Given the description of an element on the screen output the (x, y) to click on. 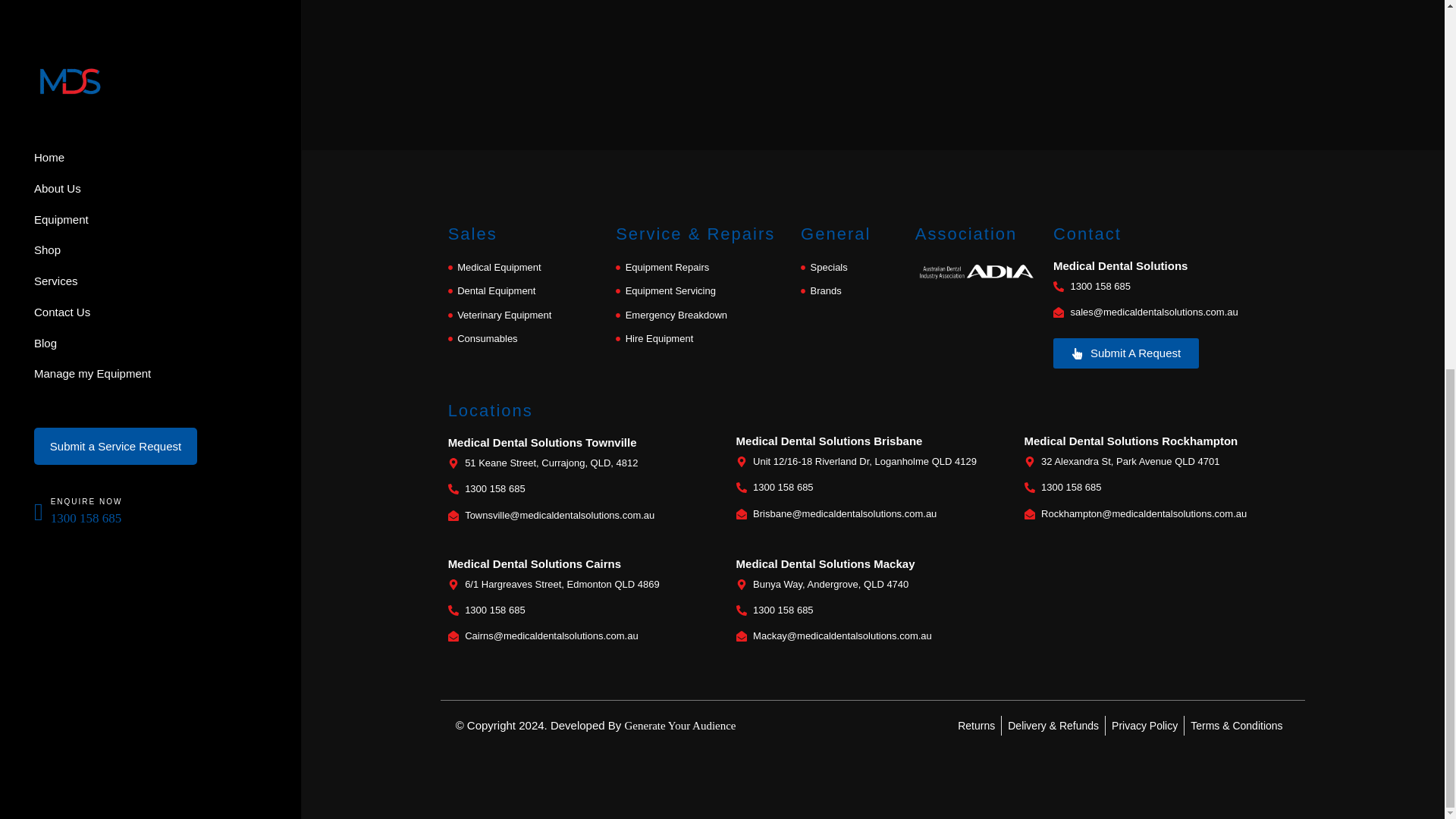
Veterinary Equipment (524, 314)
Hire Equipment (700, 338)
1300 158 685 (872, 487)
Medical Equipment (524, 267)
Brands (849, 291)
Equipment Repairs (700, 267)
Equipment Servicing (700, 291)
32 Alexandra St, Park Avenue QLD 4701 (1161, 461)
1300 158 685 (584, 488)
1300 158 685 (1174, 286)
